Given the description of an element on the screen output the (x, y) to click on. 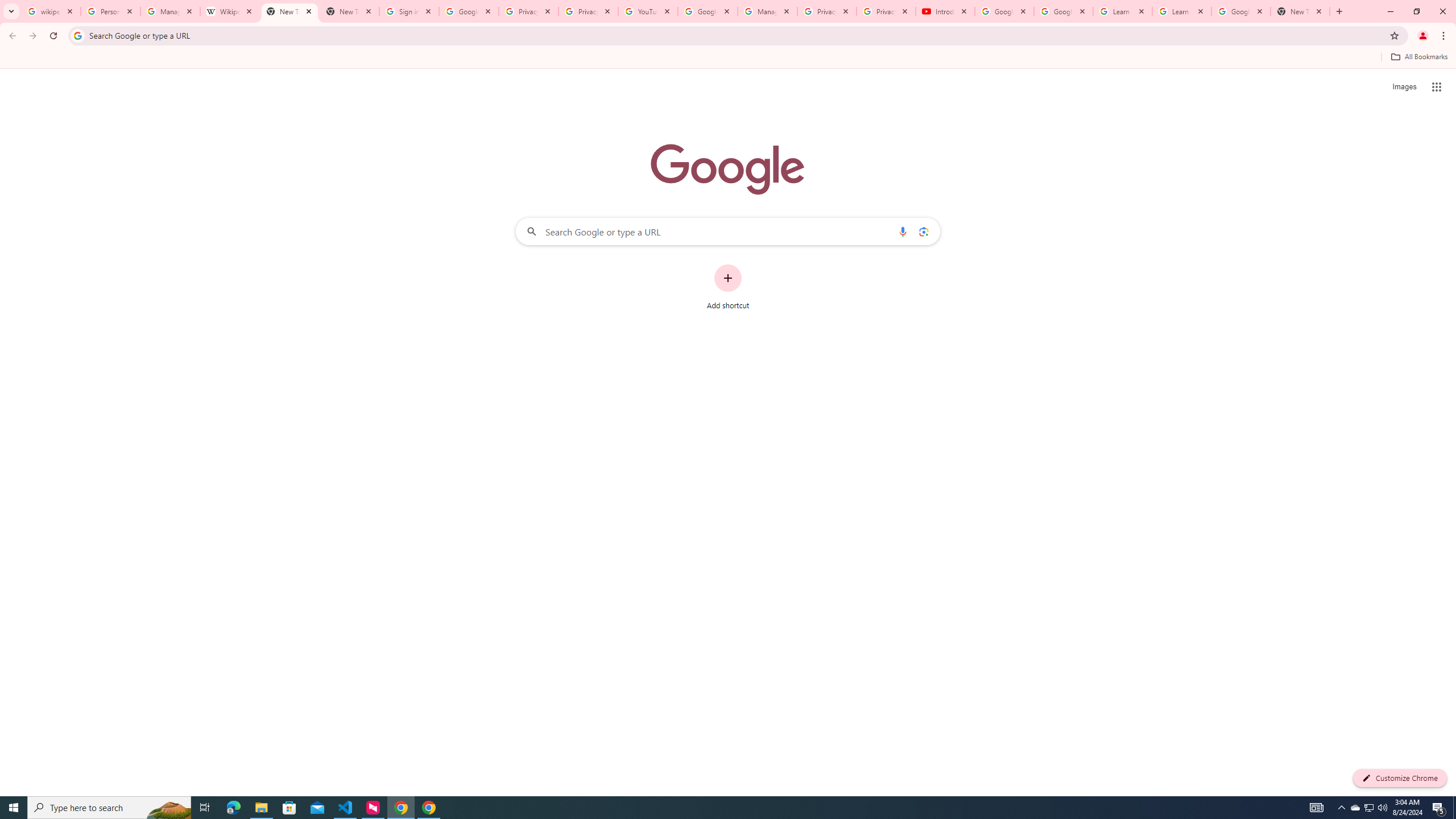
Sign in - Google Accounts (409, 11)
New Tab (289, 11)
New Tab (349, 11)
Personalization & Google Search results - Google Search Help (110, 11)
